Given the description of an element on the screen output the (x, y) to click on. 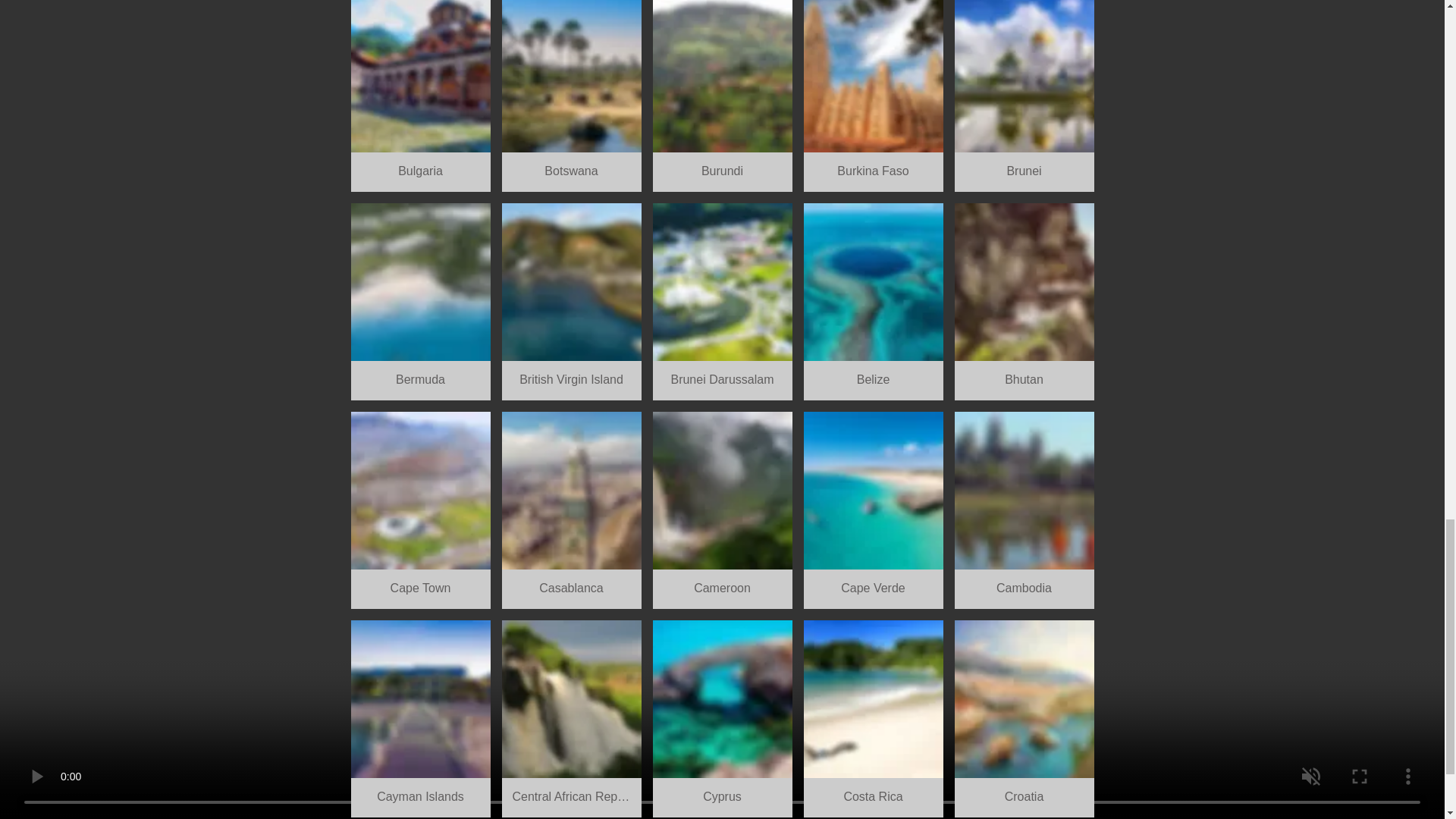
British Virgin Island (572, 301)
Brunei Darussalam (722, 301)
Botswana (572, 95)
Brunei (1023, 95)
Burundi (722, 95)
Bermuda (419, 301)
Bulgaria (419, 95)
Burkina Faso (873, 95)
